Given the description of an element on the screen output the (x, y) to click on. 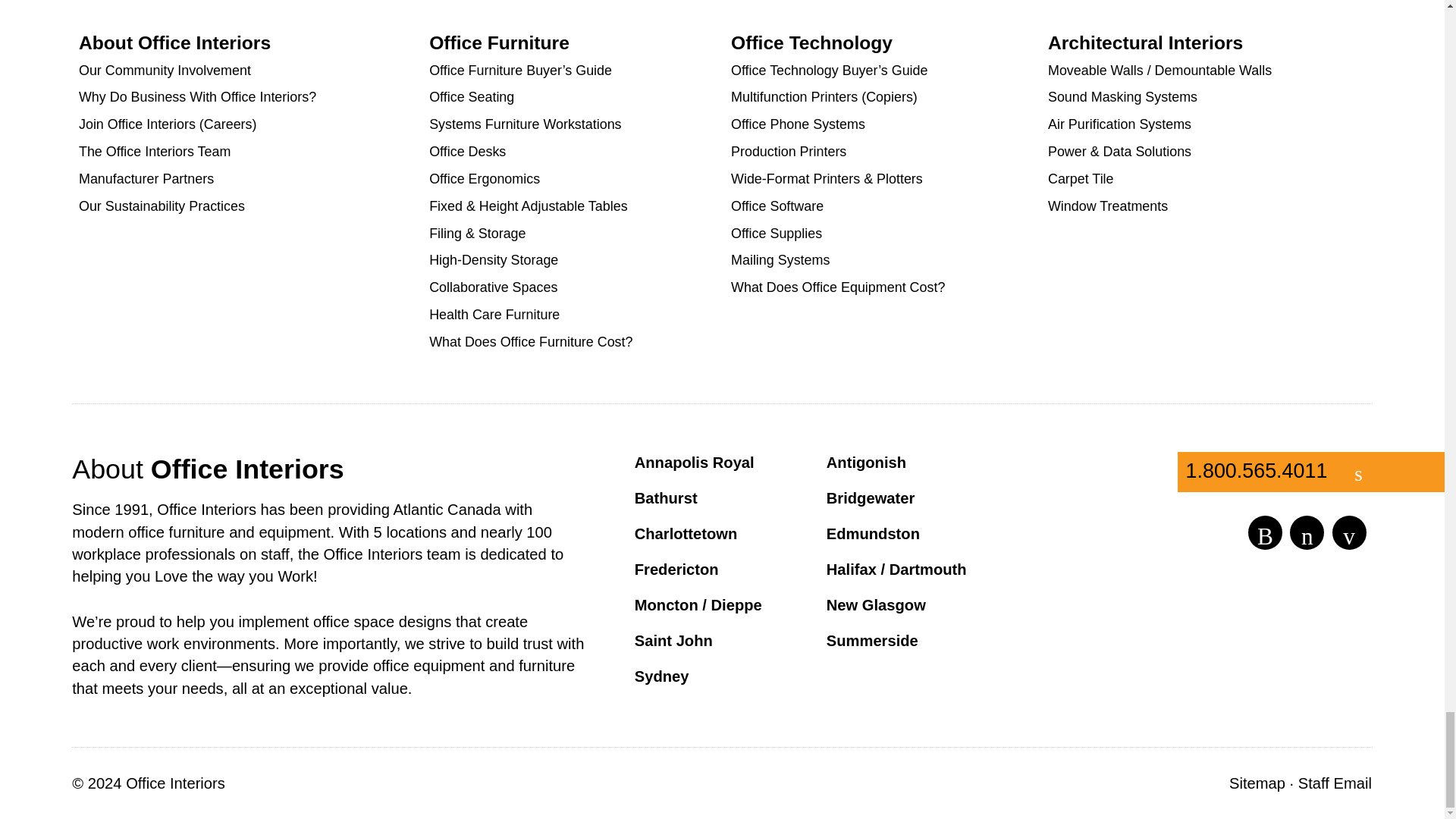
Facebook (1308, 531)
Twitter (1266, 531)
Linkedin (1351, 531)
